Given the description of an element on the screen output the (x, y) to click on. 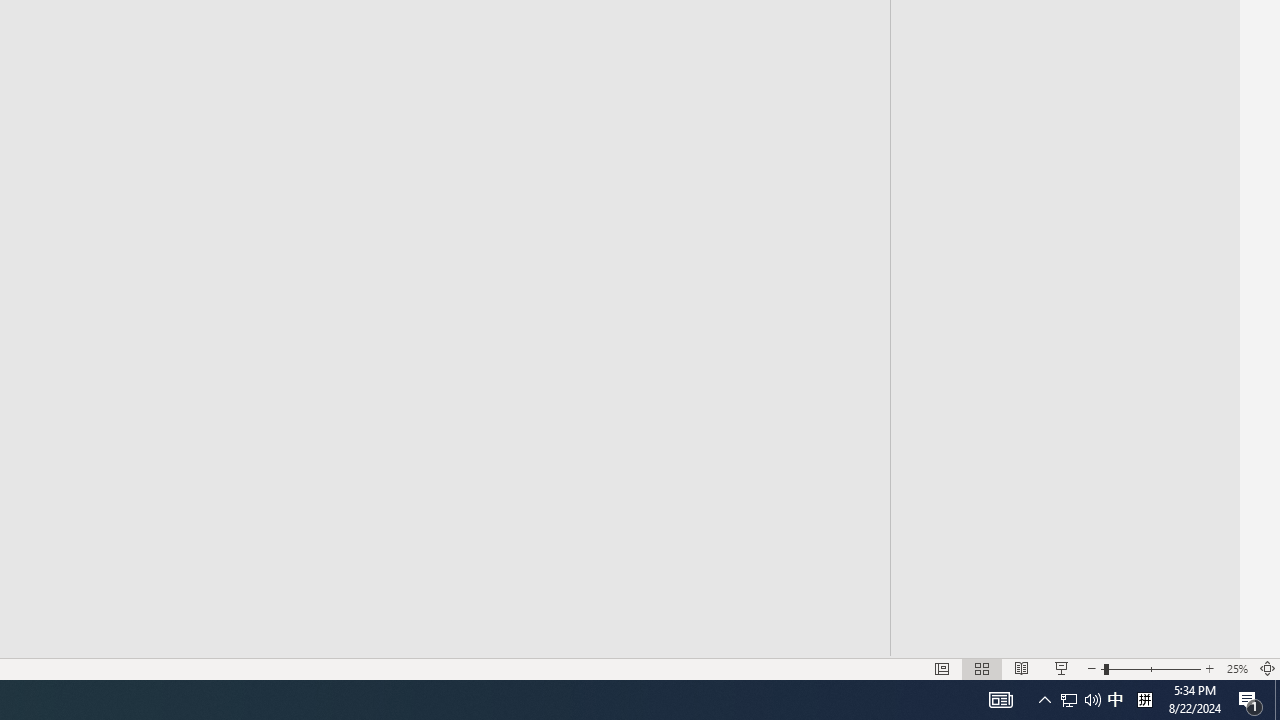
Zoom 25% (1236, 668)
